Given the description of an element on the screen output the (x, y) to click on. 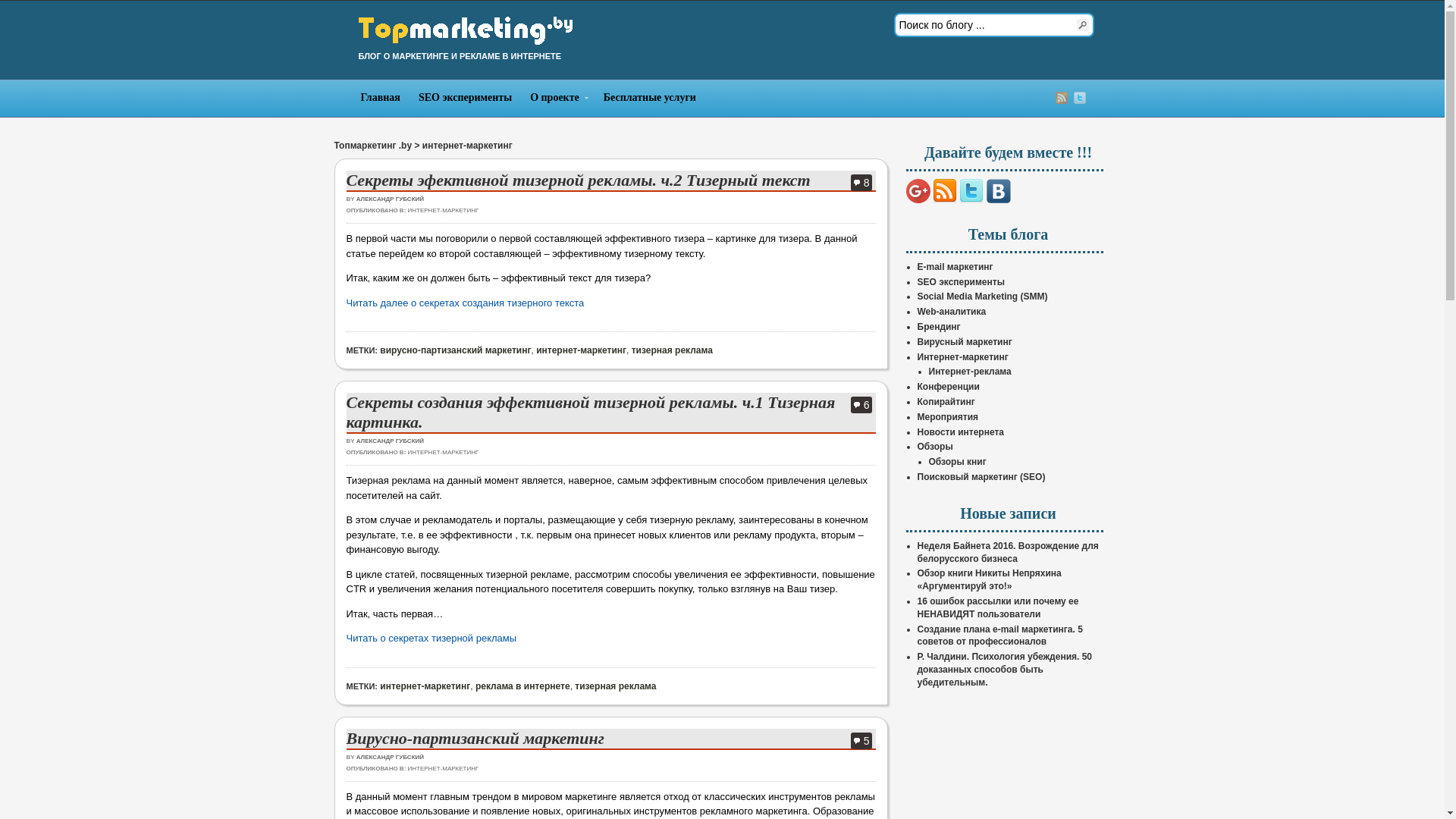
8 Element type: text (861, 182)
6 Element type: text (861, 404)
5 Element type: text (861, 740)
RSS Feed Element type: text (1061, 97)
Social Media Marketing (SMM) Element type: text (982, 296)
Twitter Element type: text (1079, 97)
